Given the description of an element on the screen output the (x, y) to click on. 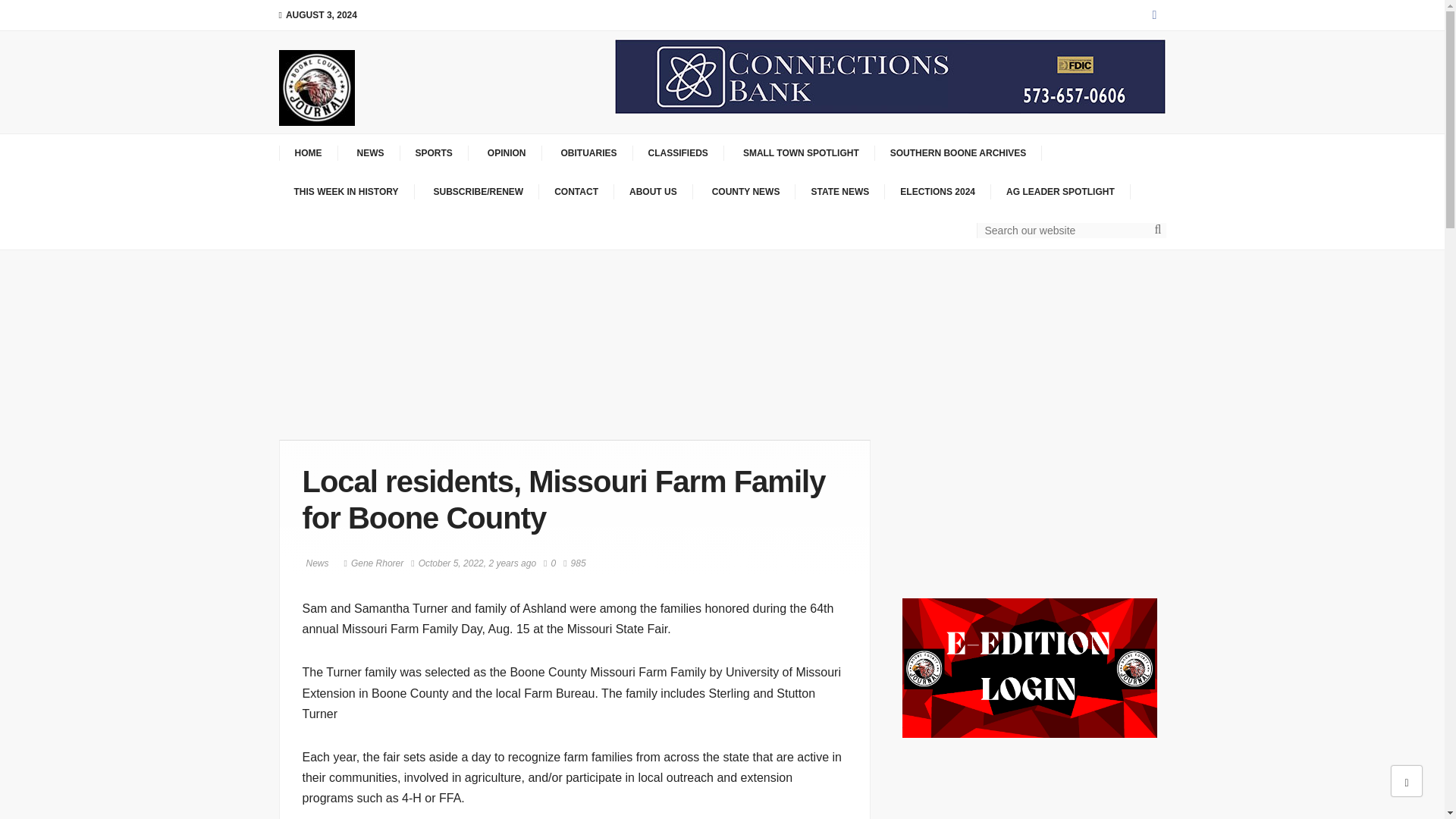
AG LEADER SPOTLIGHT (1061, 191)
THIS WEEK IN HISTORY (346, 191)
like (549, 562)
ELECTIONS 2024 (938, 191)
HOME (308, 152)
SMALL TOWN SPOTLIGHT (799, 152)
OBITUARIES (587, 152)
OPINION (504, 152)
ABOUT US (653, 191)
CONTACT (576, 191)
SPORTS (434, 152)
CLASSIFIEDS (678, 152)
STATE NEWS (839, 191)
SOUTHERN BOONE ARCHIVES (958, 152)
COUNTY NEWS (744, 191)
